Given the description of an element on the screen output the (x, y) to click on. 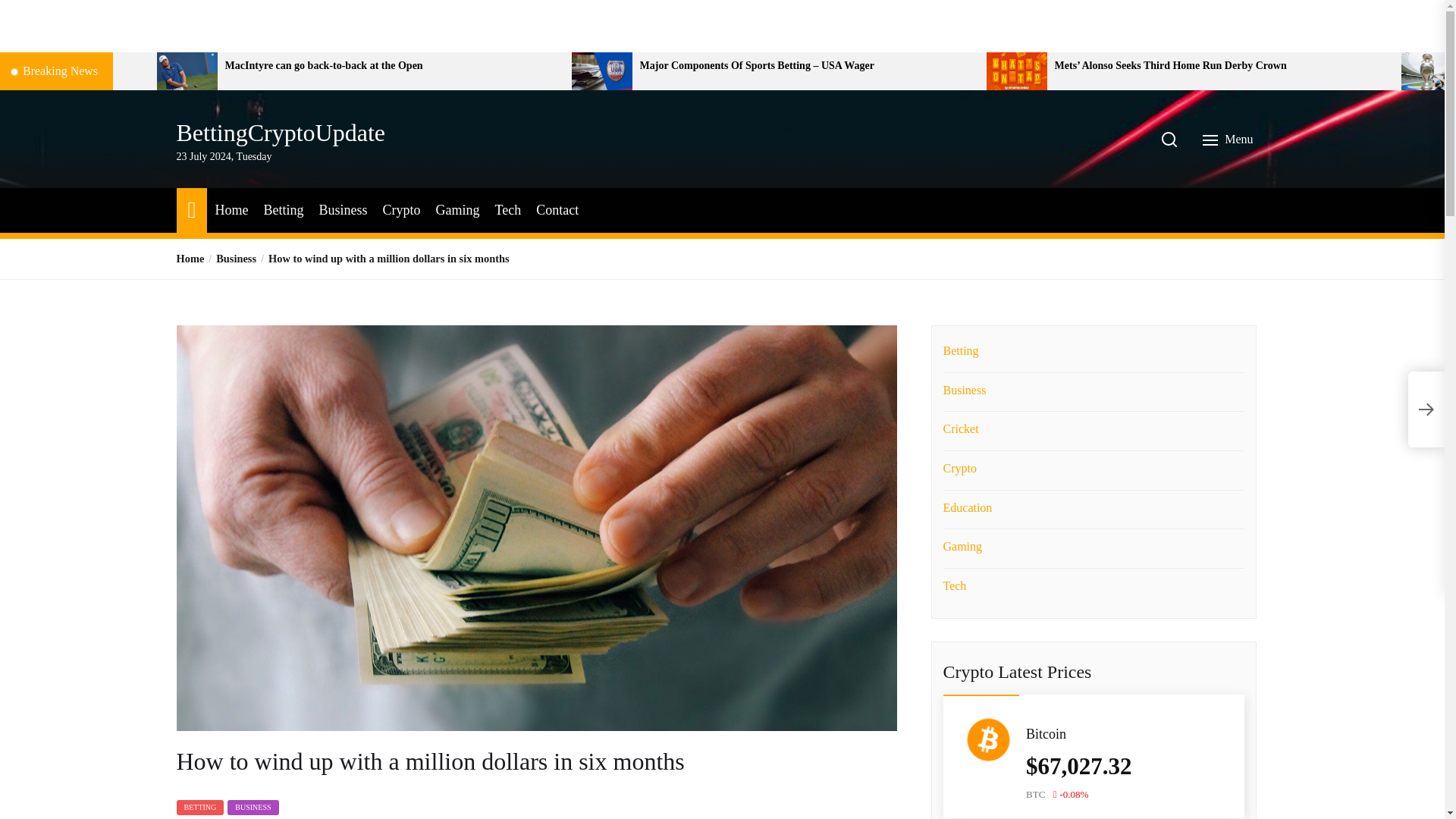
BetMGM, Caesars Expand Washington D.C. Sports Betting Access (72, 65)
MacIntyre can go back-to-back at the Open (392, 65)
